Given the description of an element on the screen output the (x, y) to click on. 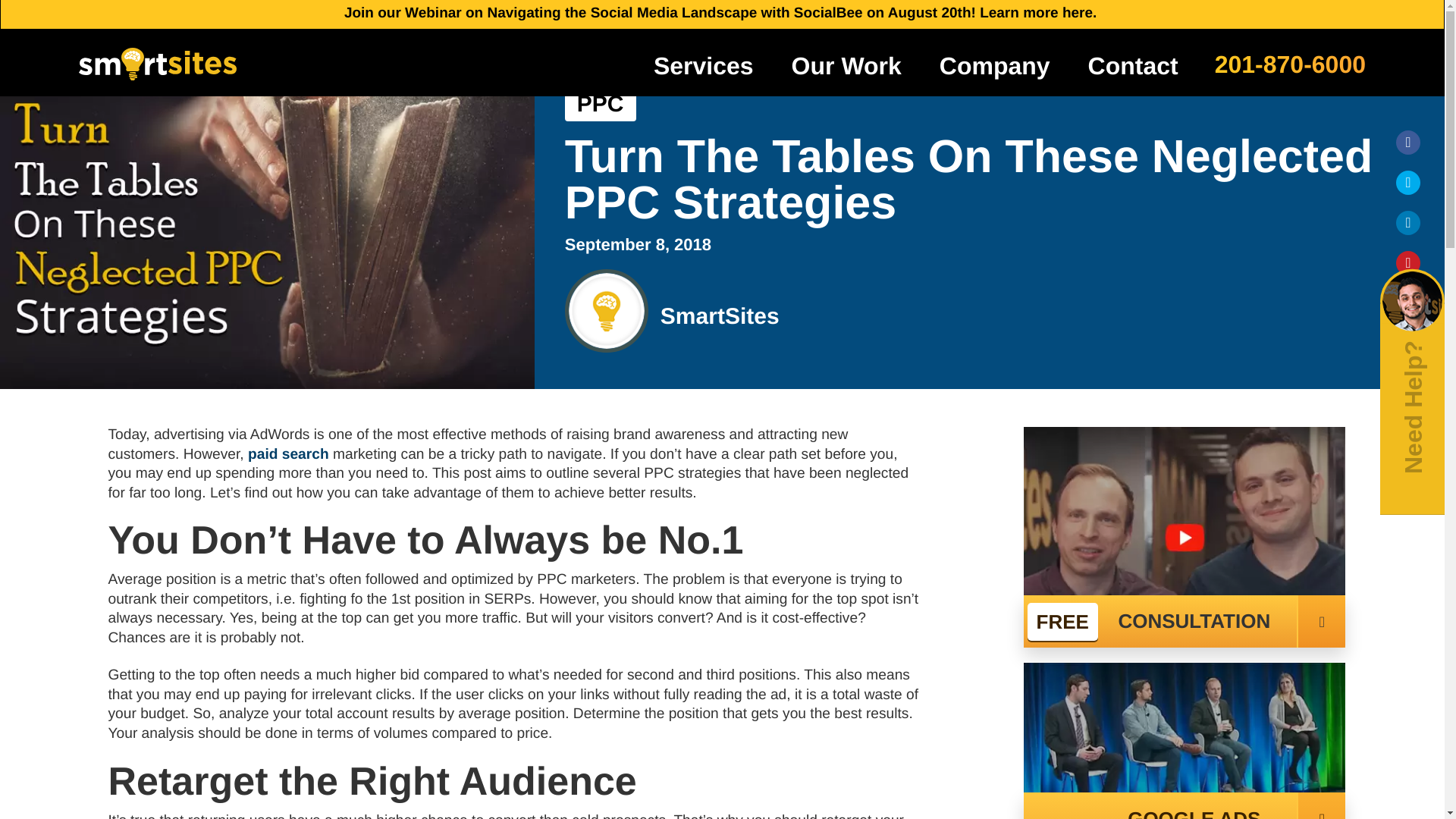
CONSULTATION (1184, 621)
paid search (288, 454)
Company (995, 65)
Services (703, 65)
PPC (600, 104)
Our Work (846, 65)
GOOGLE ADS AUDIT (1184, 805)
Contact (1133, 65)
201-870-6000 (1289, 62)
